Given the description of an element on the screen output the (x, y) to click on. 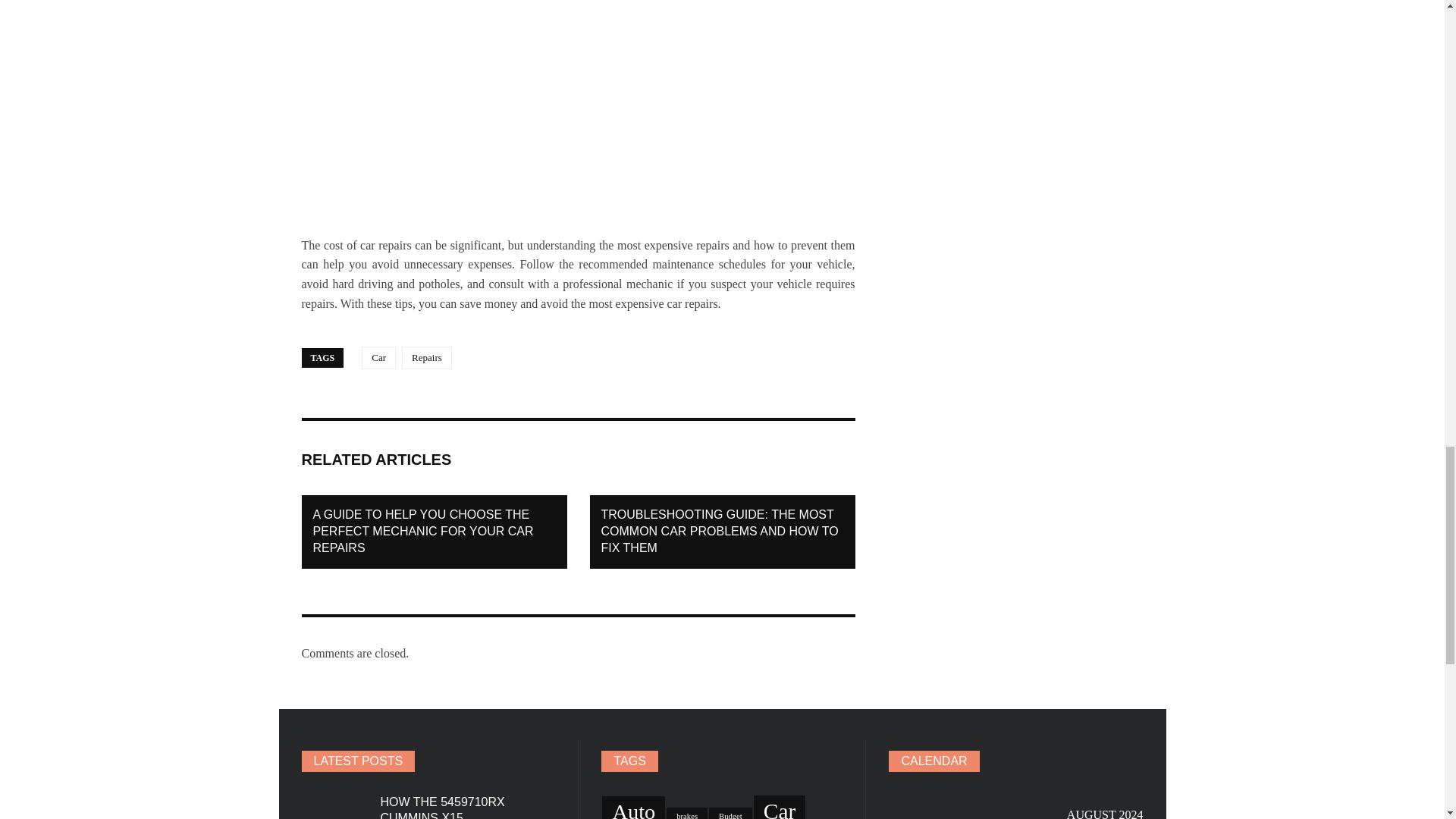
View all posts tagged Car (378, 357)
Repairs (426, 357)
Car (378, 357)
View all posts tagged Repairs (426, 357)
